Given the description of an element on the screen output the (x, y) to click on. 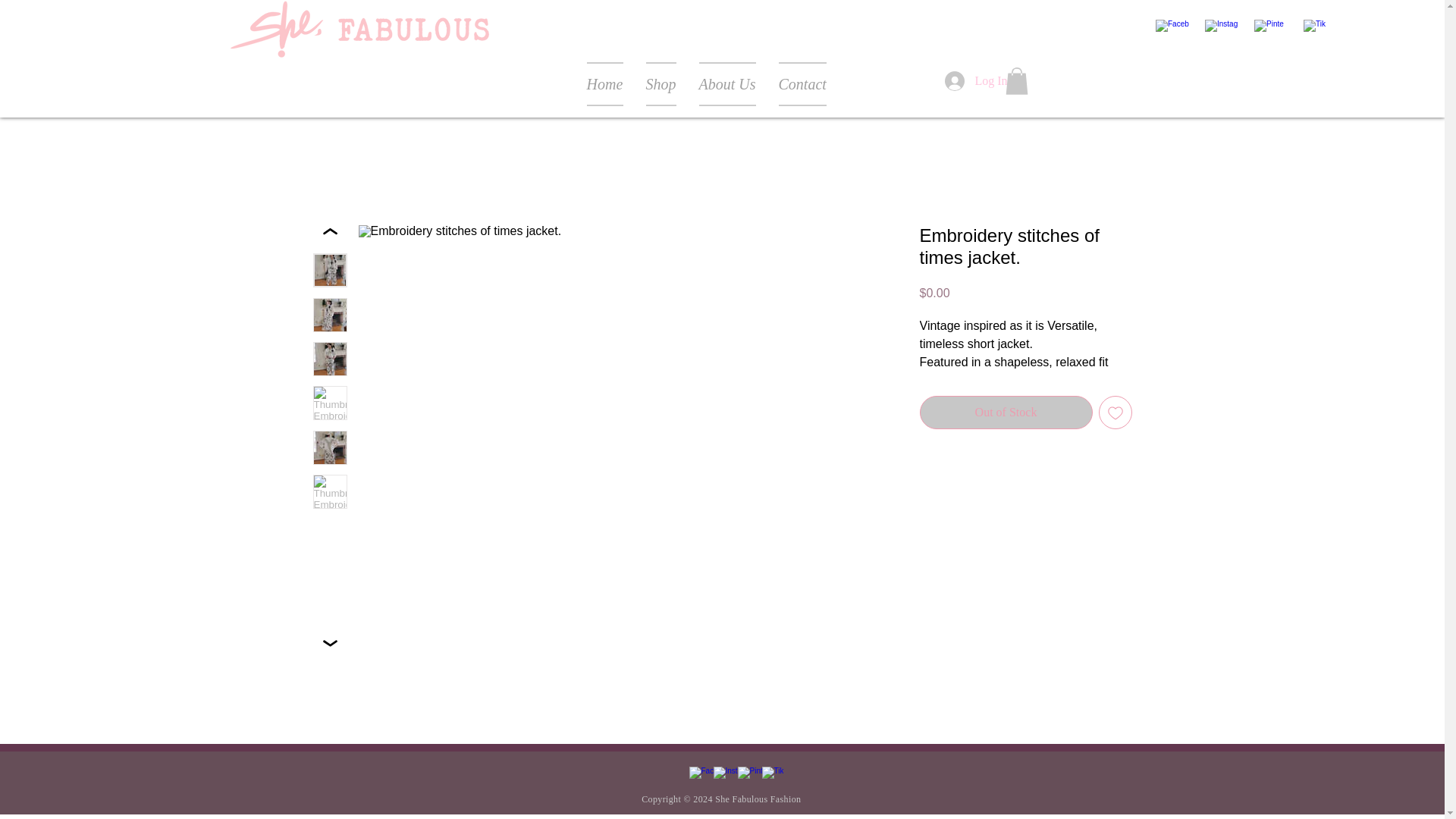
Shop (660, 84)
Log In (960, 80)
Contact (802, 84)
About Us (727, 84)
logo-10.png (359, 29)
Out of Stock (1005, 412)
Home (610, 84)
